Given the description of an element on the screen output the (x, y) to click on. 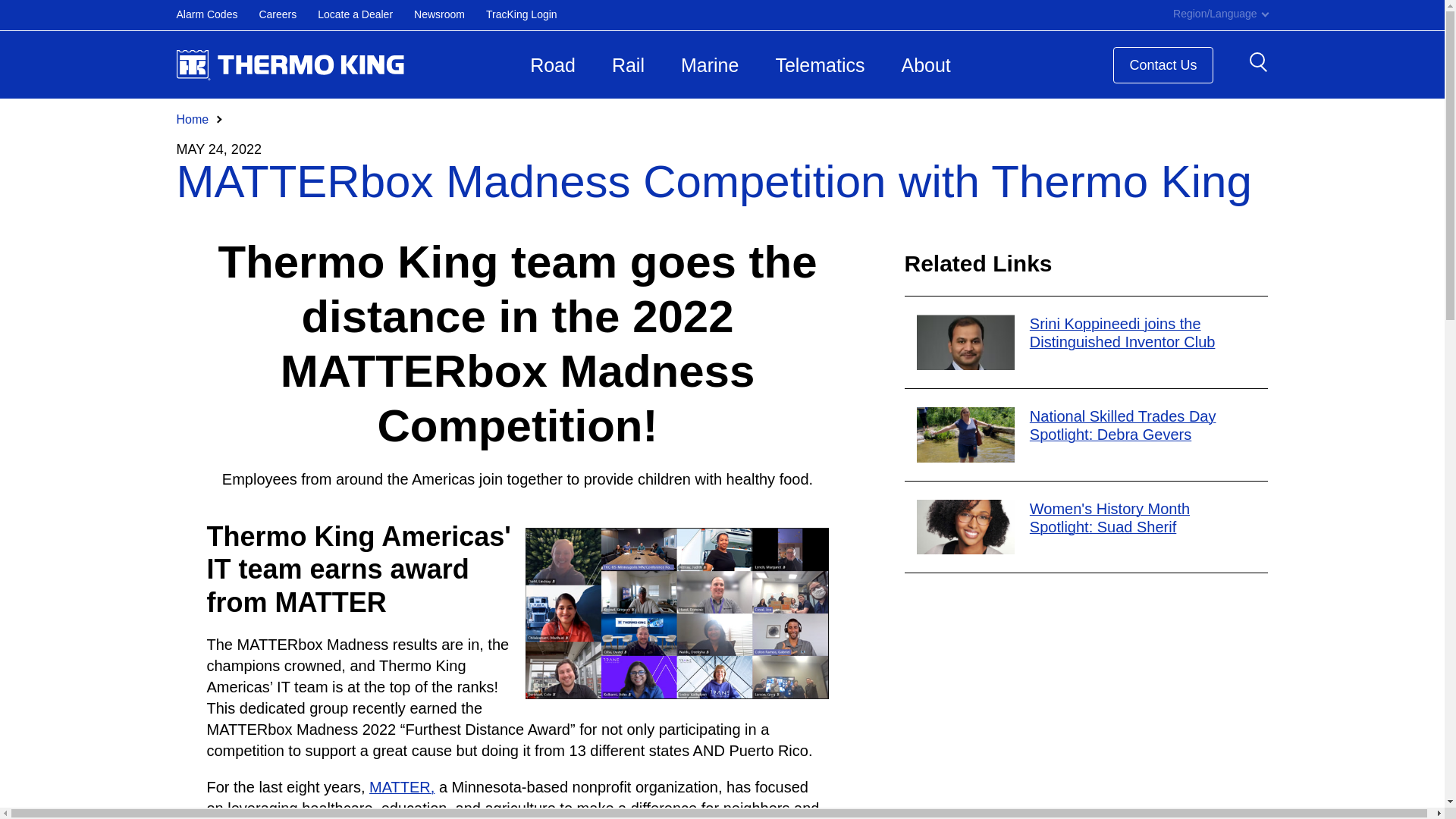
TracKing Login (532, 14)
Newsroom (449, 14)
Alarm Codes (217, 14)
Locate a Dealer (365, 14)
Careers (288, 14)
Road (553, 65)
